Given the description of an element on the screen output the (x, y) to click on. 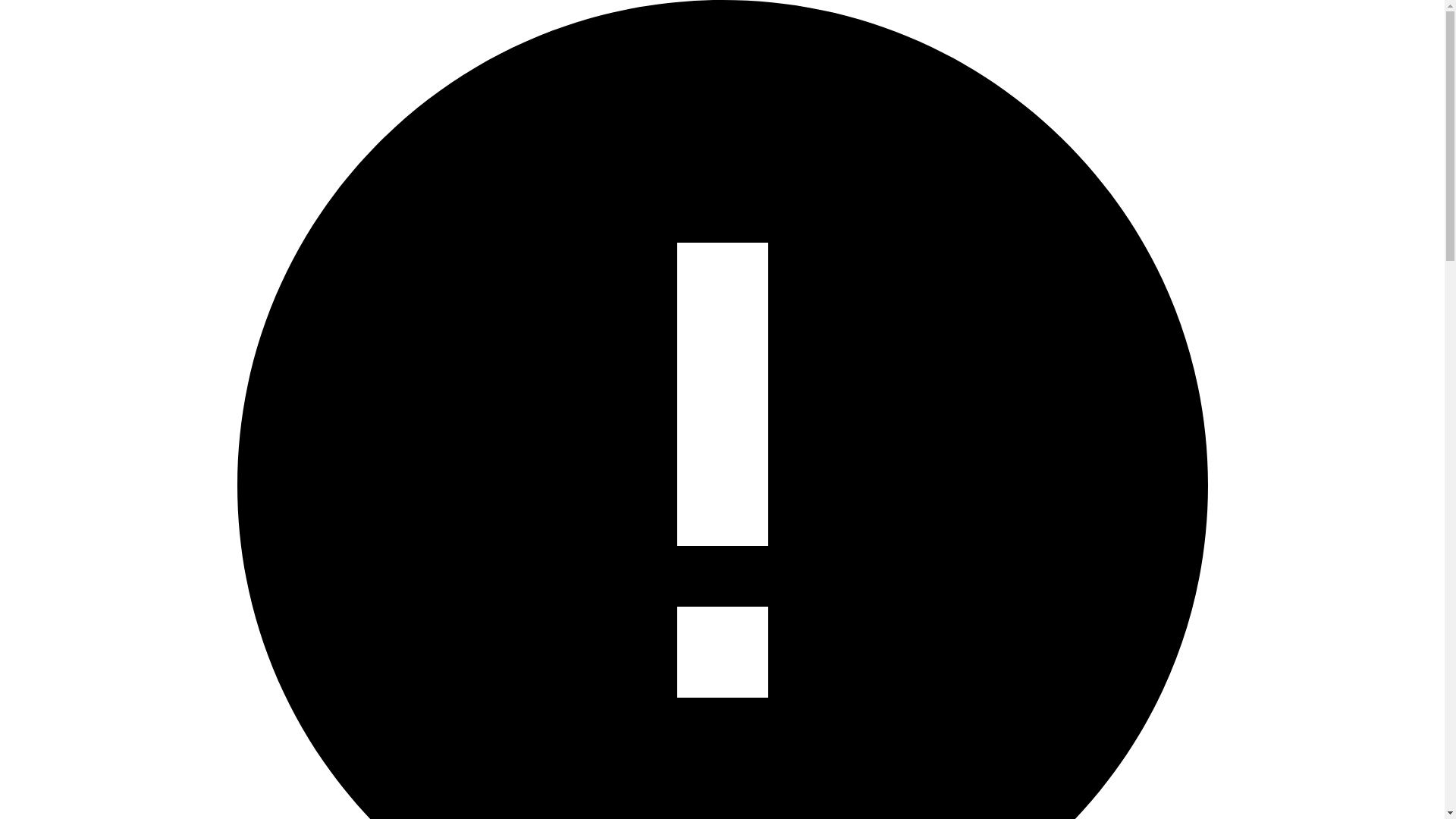
Skip to main content (11, 11)
